Given the description of an element on the screen output the (x, y) to click on. 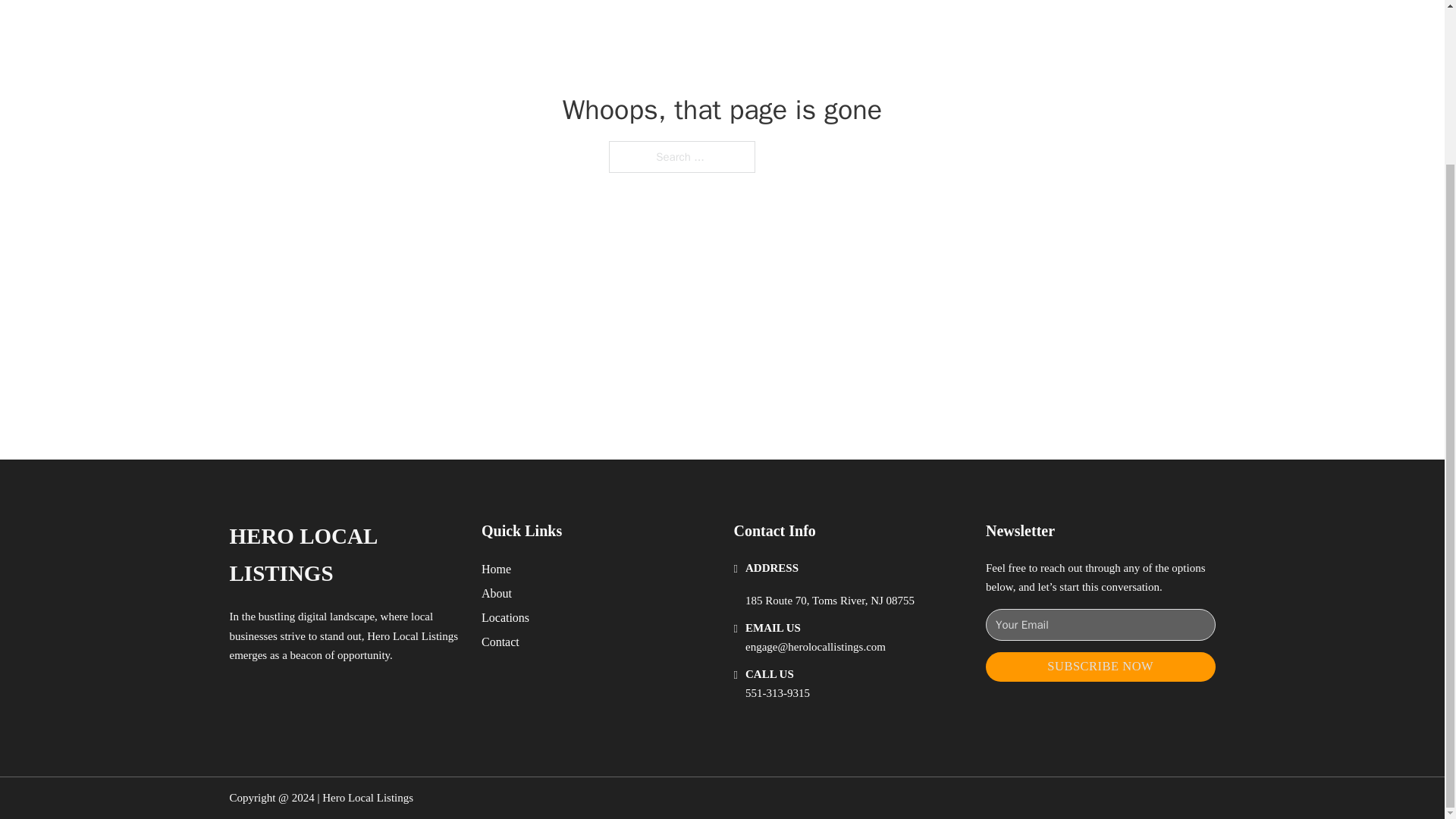
Home (496, 568)
About (496, 593)
Locations (505, 617)
551-313-9315 (777, 693)
SUBSCRIBE NOW (1100, 666)
Contact (500, 641)
HERO LOCAL LISTINGS (343, 554)
